Given the description of an element on the screen output the (x, y) to click on. 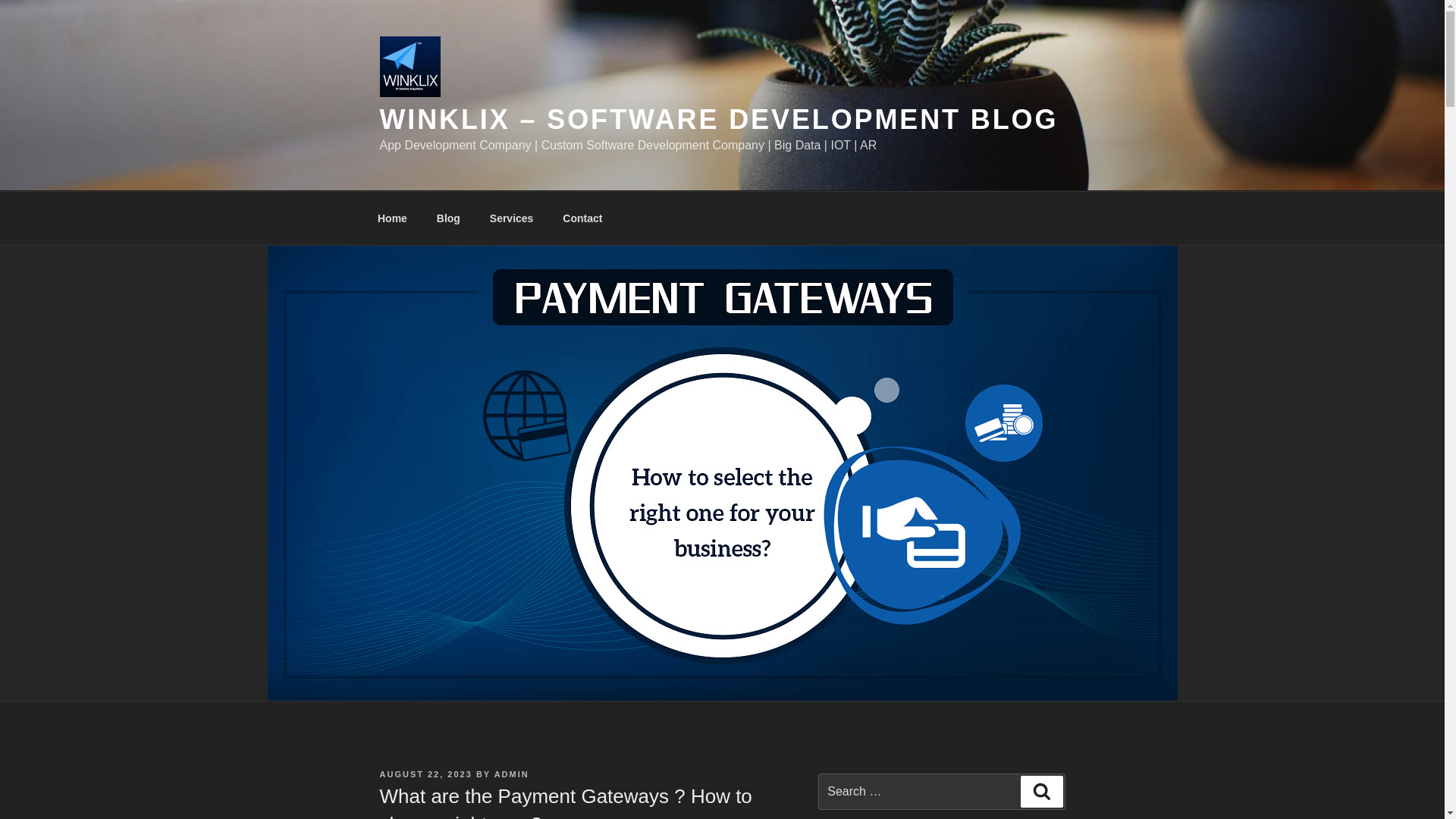
Home (392, 218)
Contact (582, 218)
AUGUST 22, 2023 (424, 773)
Services (511, 218)
ADMIN (512, 773)
Blog (448, 218)
Search (1041, 791)
